Given the description of an element on the screen output the (x, y) to click on. 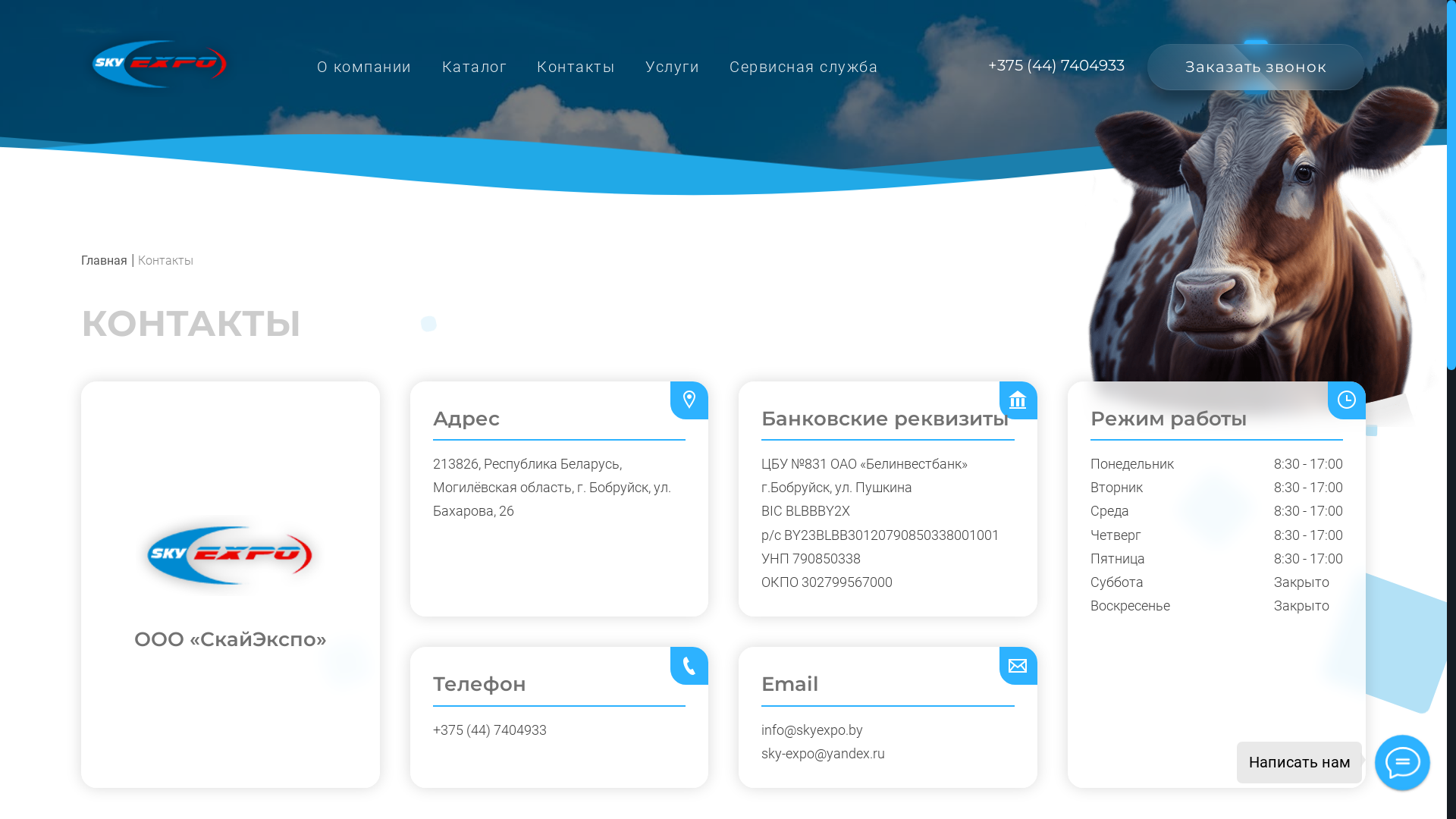
+375 (44) 7404933 Element type: text (1056, 65)
